Given the description of an element on the screen output the (x, y) to click on. 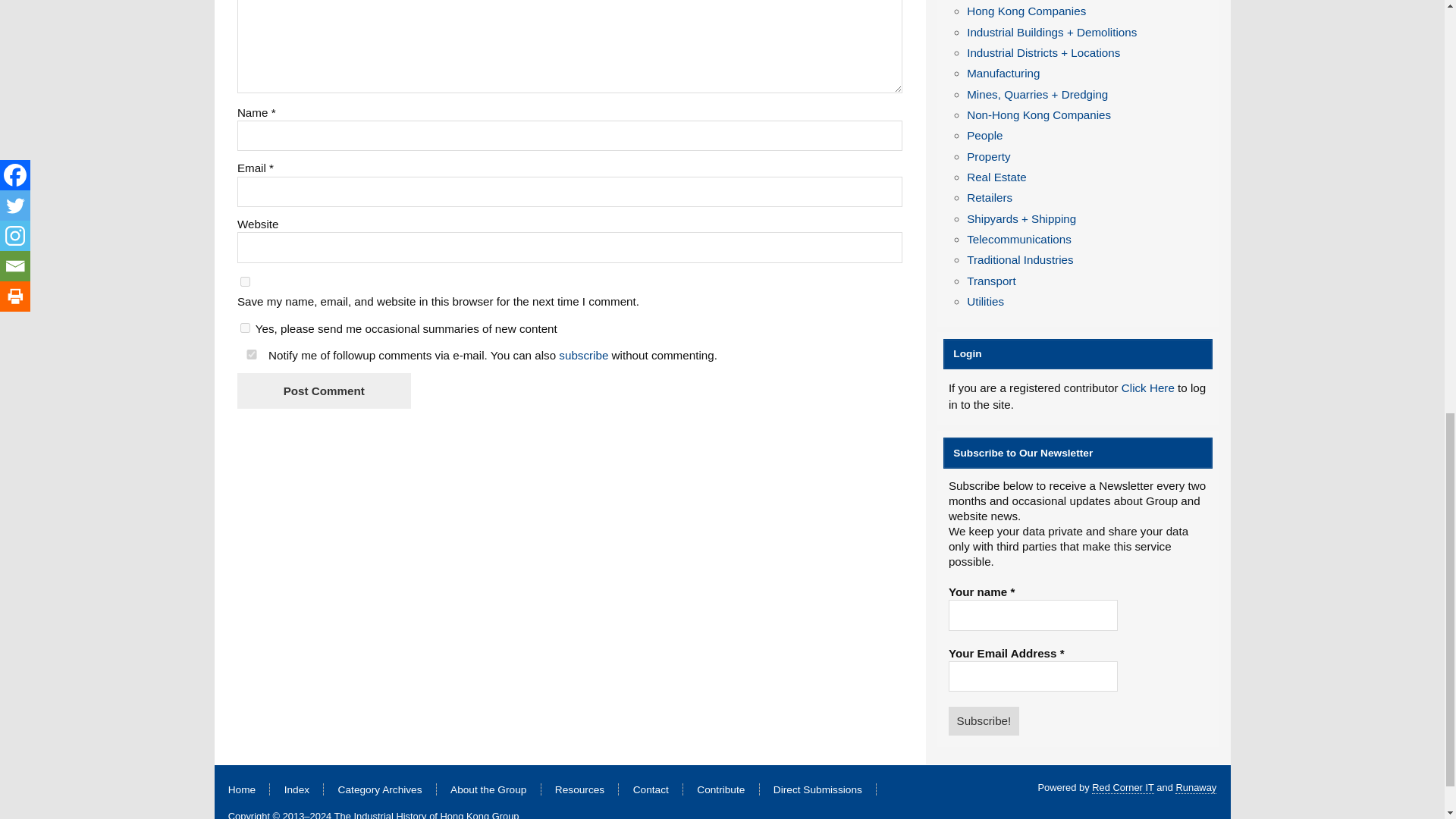
Post Comment (323, 390)
subscribe (583, 354)
yes (251, 354)
Post Comment (323, 390)
1 (245, 327)
yes (245, 281)
Subscribe! (984, 720)
